Given the description of an element on the screen output the (x, y) to click on. 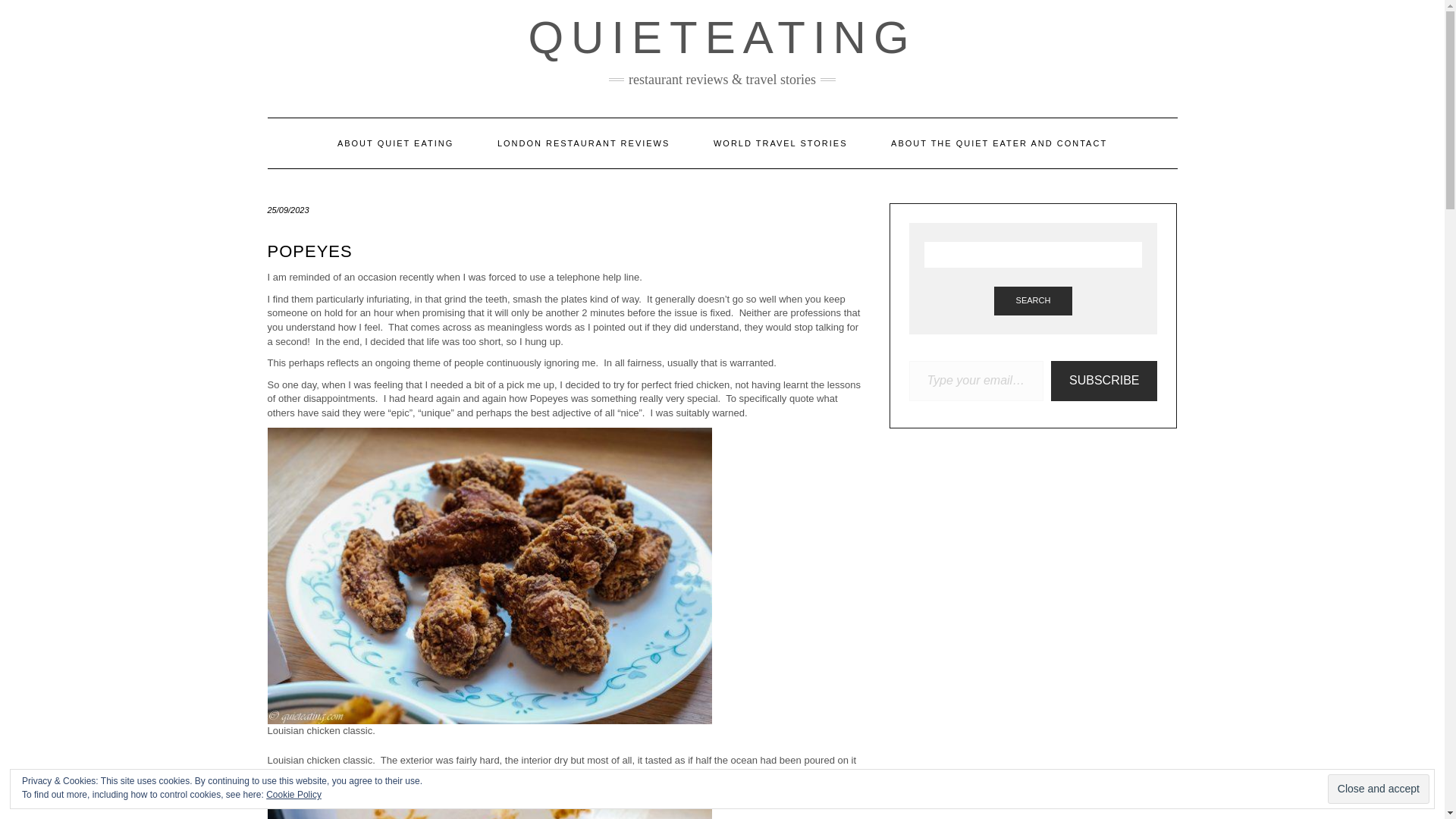
SUBSCRIBE (1104, 381)
Cookie Policy (293, 794)
ABOUT THE QUIET EATER AND CONTACT (998, 142)
ABOUT QUIET EATING (395, 142)
QUIETEATING (721, 37)
Close and accept (1378, 788)
WORLD TRAVEL STORIES (780, 142)
Close and accept (1378, 788)
Please fill in this field. (975, 381)
SEARCH (1033, 300)
LONDON RESTAURANT REVIEWS (583, 142)
